Given the description of an element on the screen output the (x, y) to click on. 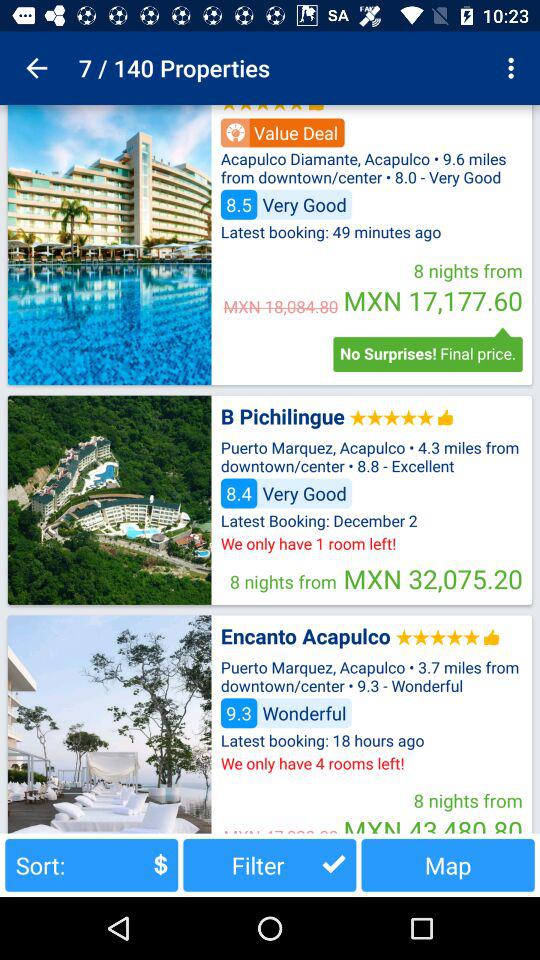
more photos of property (109, 245)
